Given the description of an element on the screen output the (x, y) to click on. 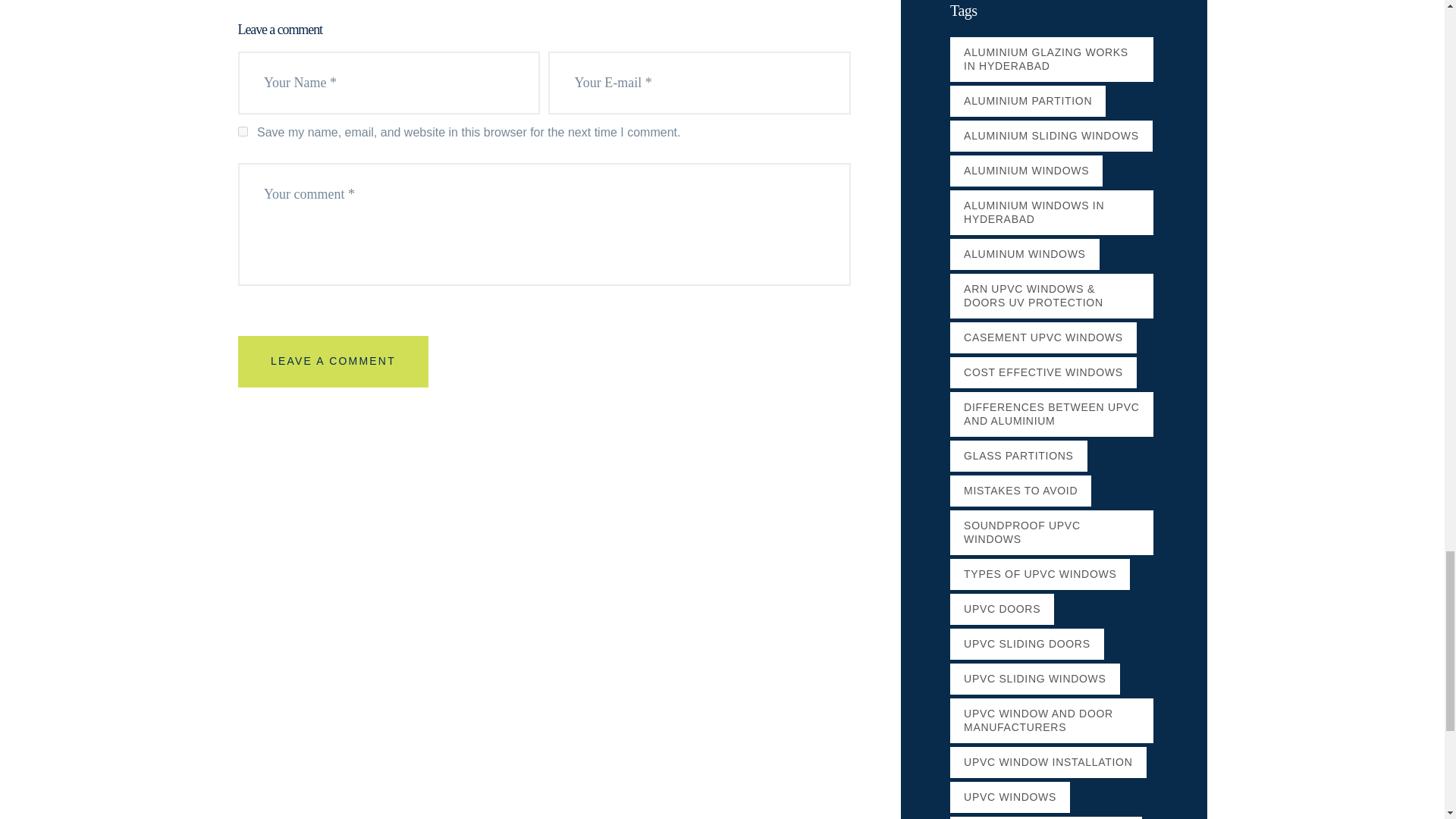
Leave a comment (333, 361)
yes (242, 131)
